Given the description of an element on the screen output the (x, y) to click on. 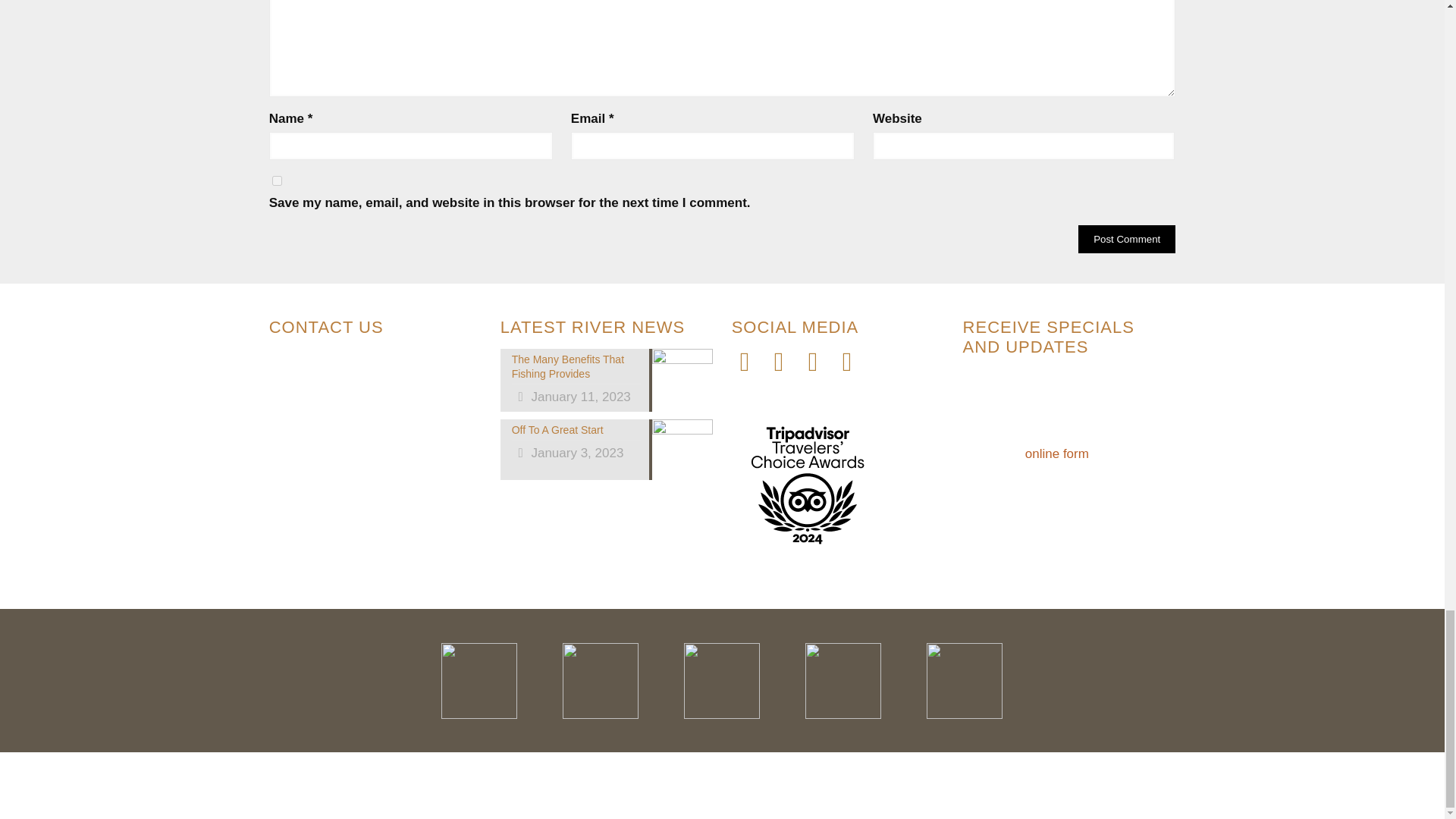
Instagram (816, 365)
YouTube (782, 365)
Post Comment (1126, 239)
yes (277, 180)
Facebook (748, 365)
